Given the description of an element on the screen output the (x, y) to click on. 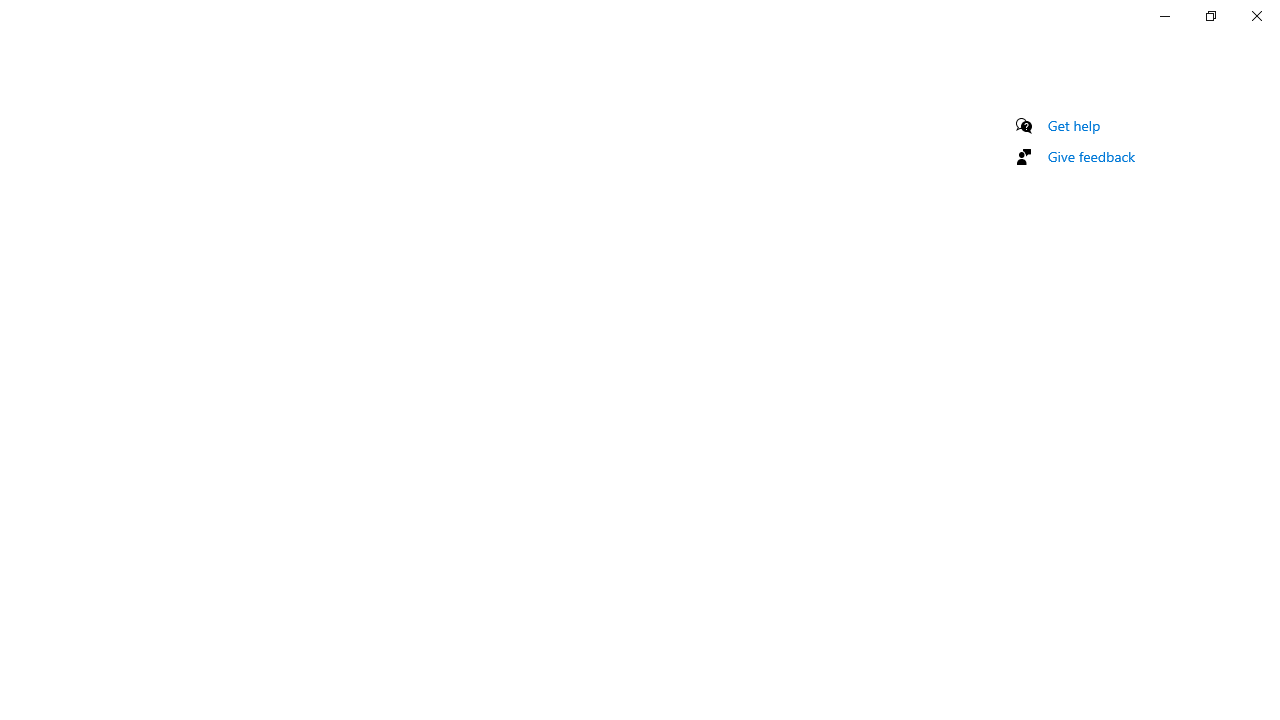
Restore Settings (1210, 15)
Get help (1074, 125)
Close Settings (1256, 15)
Give feedback (1091, 156)
Minimize Settings (1164, 15)
